Given the description of an element on the screen output the (x, y) to click on. 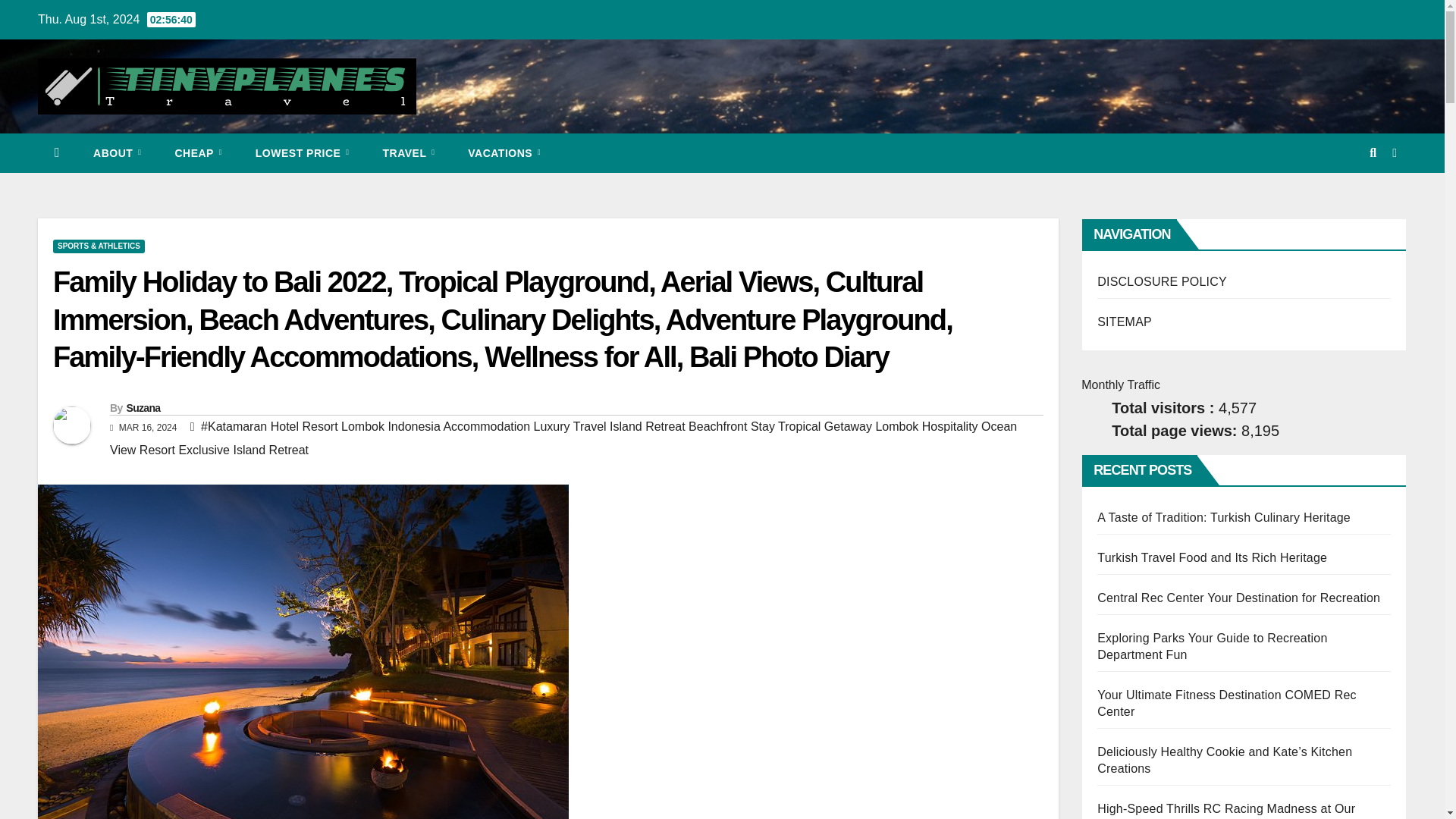
LOWEST PRICE (302, 152)
VACATIONS (504, 152)
CHEAP (197, 152)
About (117, 152)
Cheap (197, 152)
ABOUT (117, 152)
TRAVEL (408, 152)
Lowest Price (302, 152)
